Given the description of an element on the screen output the (x, y) to click on. 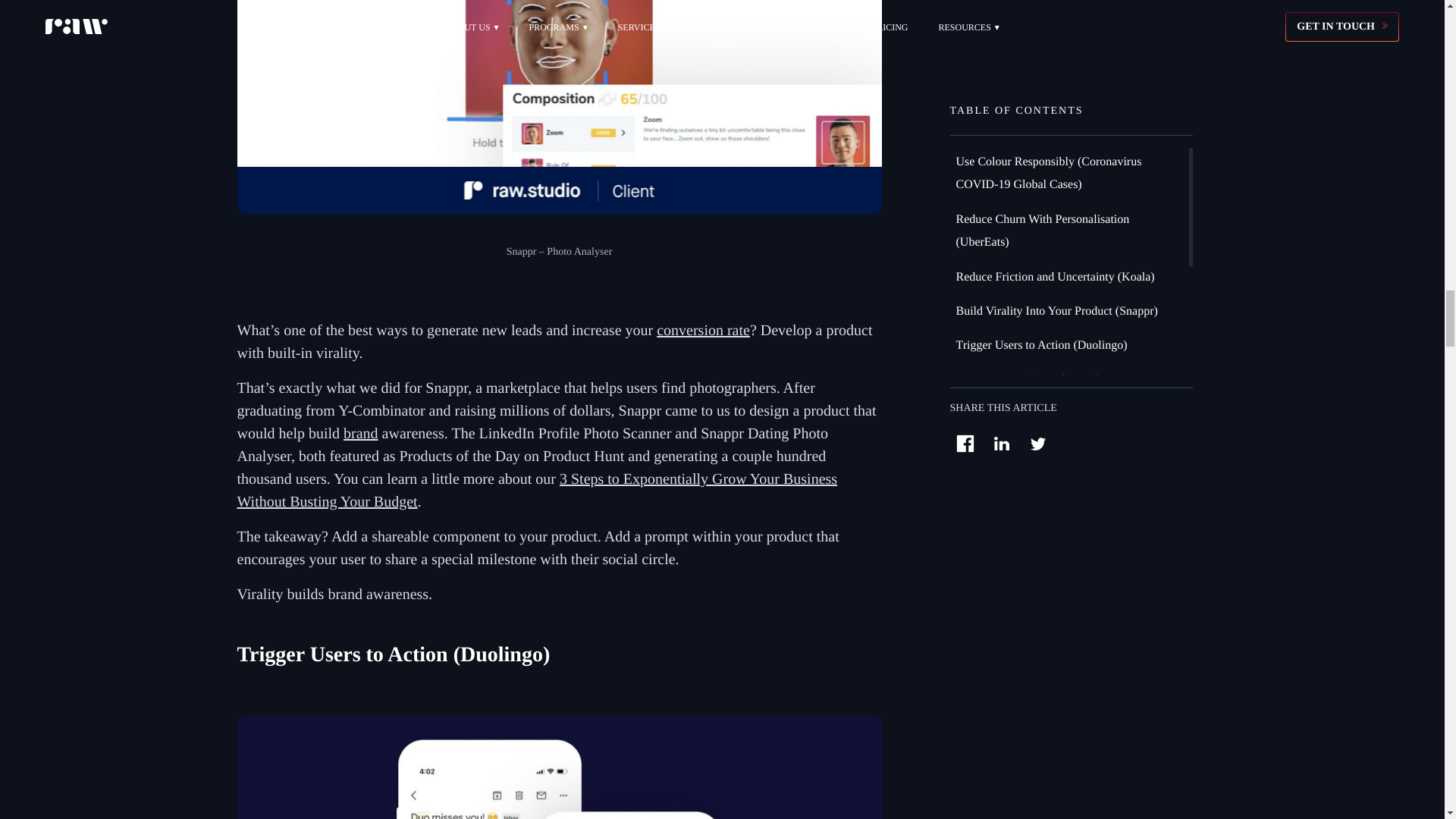
10 Design Commandments You Must Consider for Your Product (557, 767)
